Given the description of an element on the screen output the (x, y) to click on. 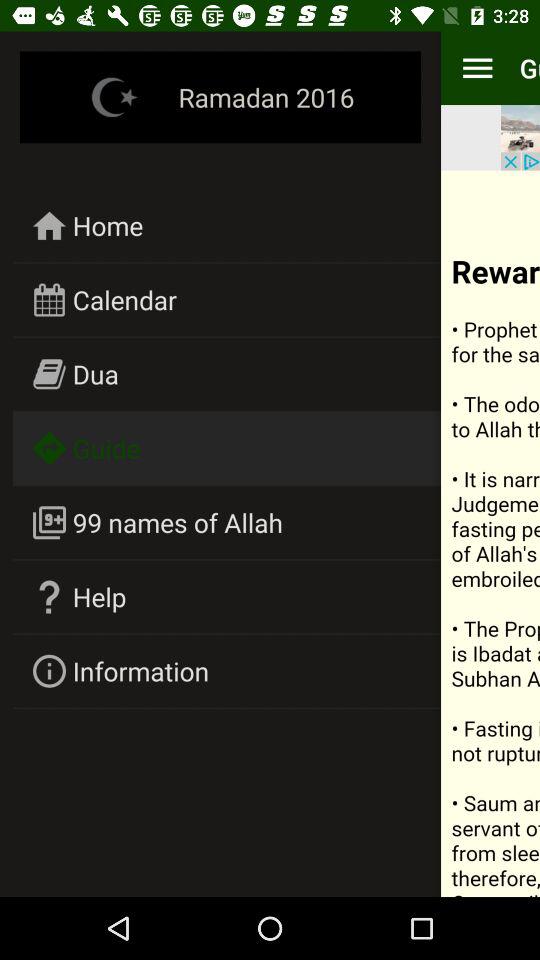
open advertisement (520, 137)
